Given the description of an element on the screen output the (x, y) to click on. 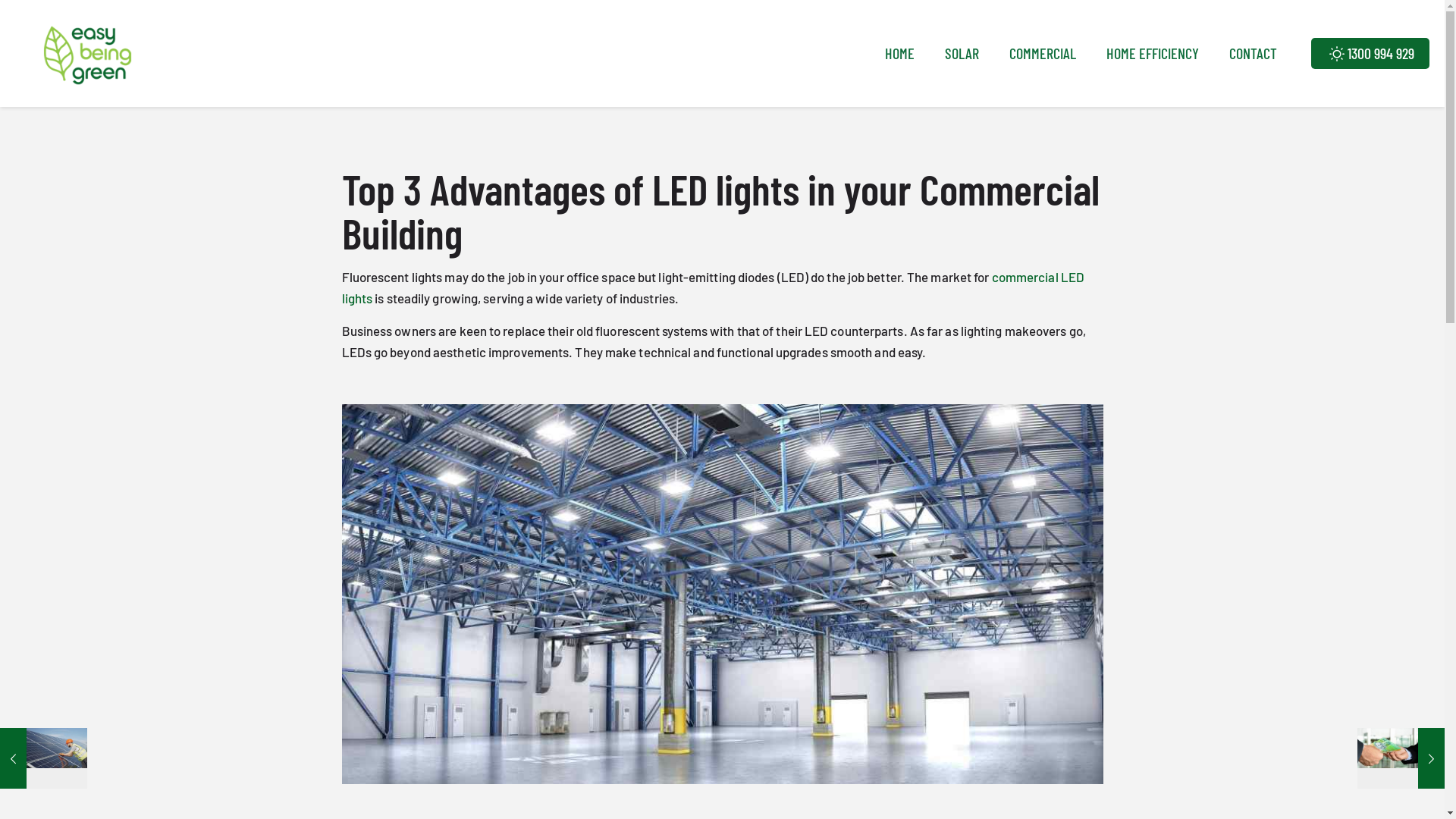
SOLAR Element type: text (961, 53)
HOME EFFICIENCY Element type: text (1152, 53)
1300 994 929 Element type: text (1370, 53)
commercial LED lights Element type: text (712, 287)
CONTACT Element type: text (1253, 53)
COMMERCIAL Element type: text (1042, 53)
HOME Element type: text (899, 53)
Easy Being Green Element type: hover (87, 53)
